Given the description of an element on the screen output the (x, y) to click on. 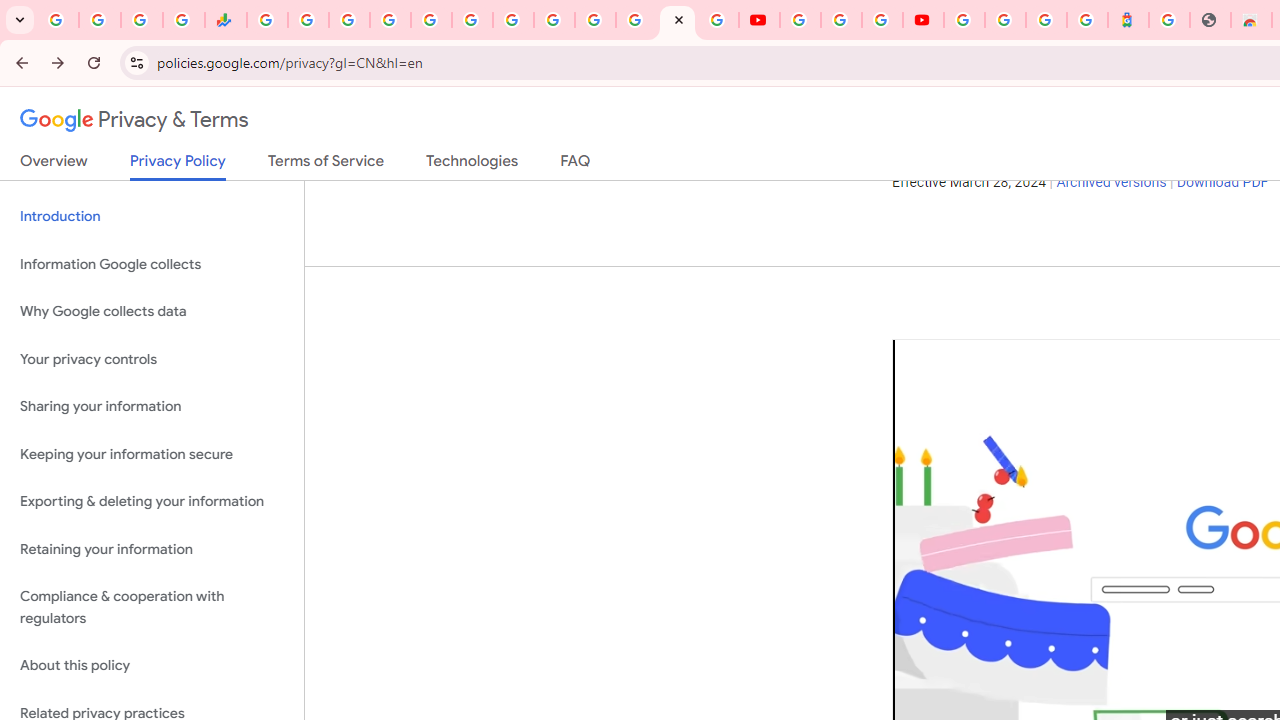
Keeping your information secure (152, 453)
YouTube (553, 20)
Content Creator Programs & Opportunities - YouTube Creators (923, 20)
Sign in - Google Accounts (389, 20)
YouTube (799, 20)
